Given the description of an element on the screen output the (x, y) to click on. 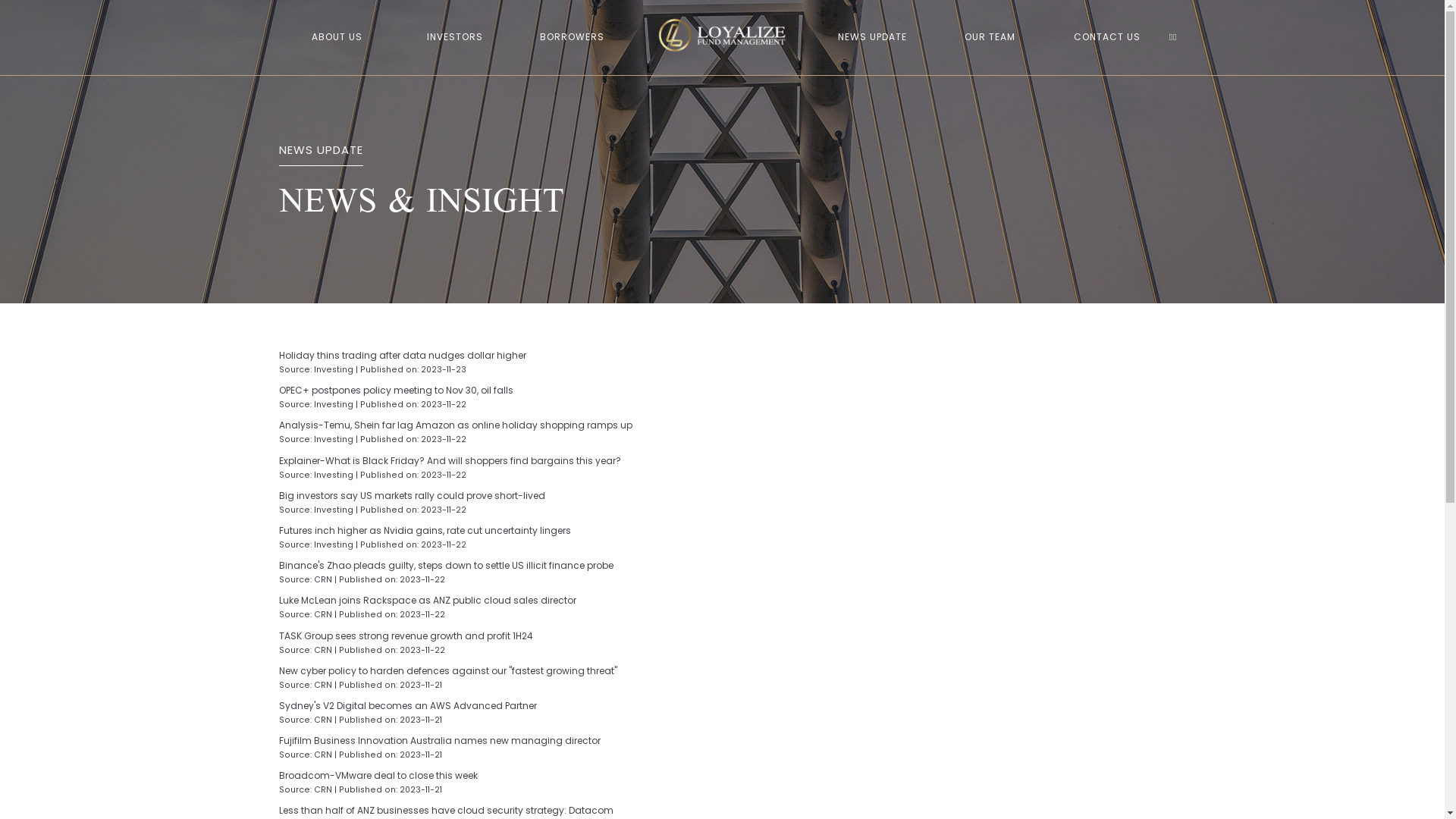
CRN Element type: text (322, 719)
Sydney's V2 Digital becomes an AWS Advanced Partner Element type: text (500, 705)
Holiday thins trading after data nudges dollar higher Element type: text (500, 355)
CRN Element type: text (322, 579)
BORROWERS Element type: text (571, 37)
Investing Element type: text (333, 544)
TASK Group sees strong revenue growth and profit 1H24 Element type: text (500, 636)
CRN Element type: text (322, 684)
Investing Element type: text (333, 369)
Investing Element type: text (333, 474)
ABOUT US Element type: text (336, 37)
Investing Element type: text (333, 404)
CRN Element type: text (322, 754)
Broadcom-VMware deal to close this week Element type: text (500, 775)
CONTACT US Element type: text (1106, 37)
CRN Element type: text (322, 649)
Investing Element type: text (333, 439)
Big investors say US markets rally could prove short-lived Element type: text (500, 495)
NEWS UPDATE Element type: text (871, 37)
CRN Element type: text (322, 614)
OUR TEAM Element type: text (989, 37)
OPEC+ postpones policy meeting to Nov 30, oil falls Element type: text (500, 390)
Investing Element type: text (333, 509)
CRN Element type: text (322, 789)
INVESTORS Element type: text (454, 37)
